Given the description of an element on the screen output the (x, y) to click on. 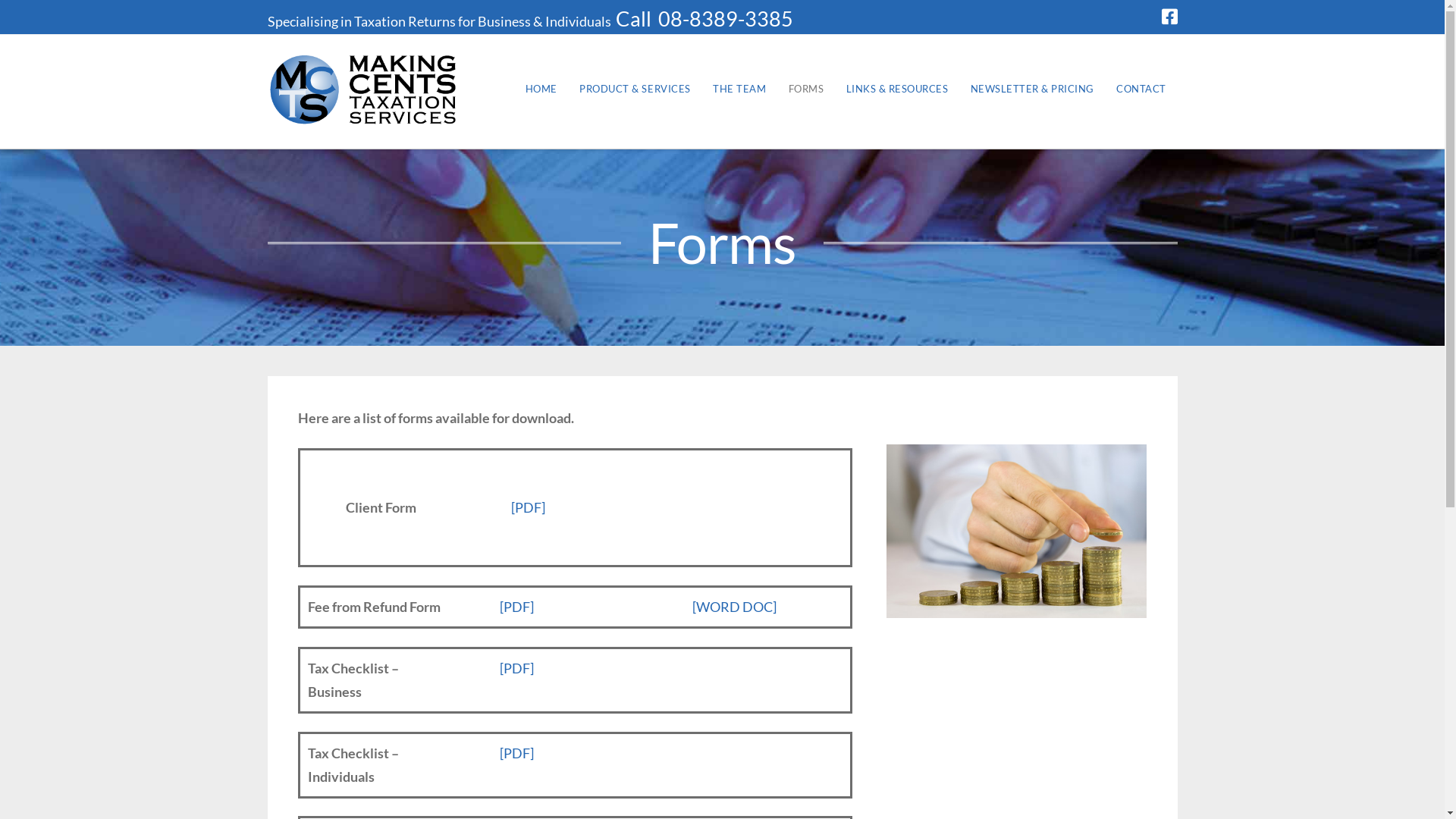
[PDF] Element type: text (516, 752)
[PDF] Element type: text (516, 667)
[WORD DOC] Element type: text (734, 606)
PRODUCT & SERVICES Element type: text (634, 91)
HOME Element type: text (541, 91)
NEWSLETTER & PRICING Element type: text (1032, 91)
THE TEAM Element type: text (739, 91)
LINKS & RESOURCES Element type: text (896, 91)
CONTACT Element type: text (1140, 91)
[PDF] Element type: text (528, 506)
[PDF] Element type: text (516, 606)
Facebook Element type: hover (1169, 16)
FORMS Element type: text (805, 91)
